Given the description of an element on the screen output the (x, y) to click on. 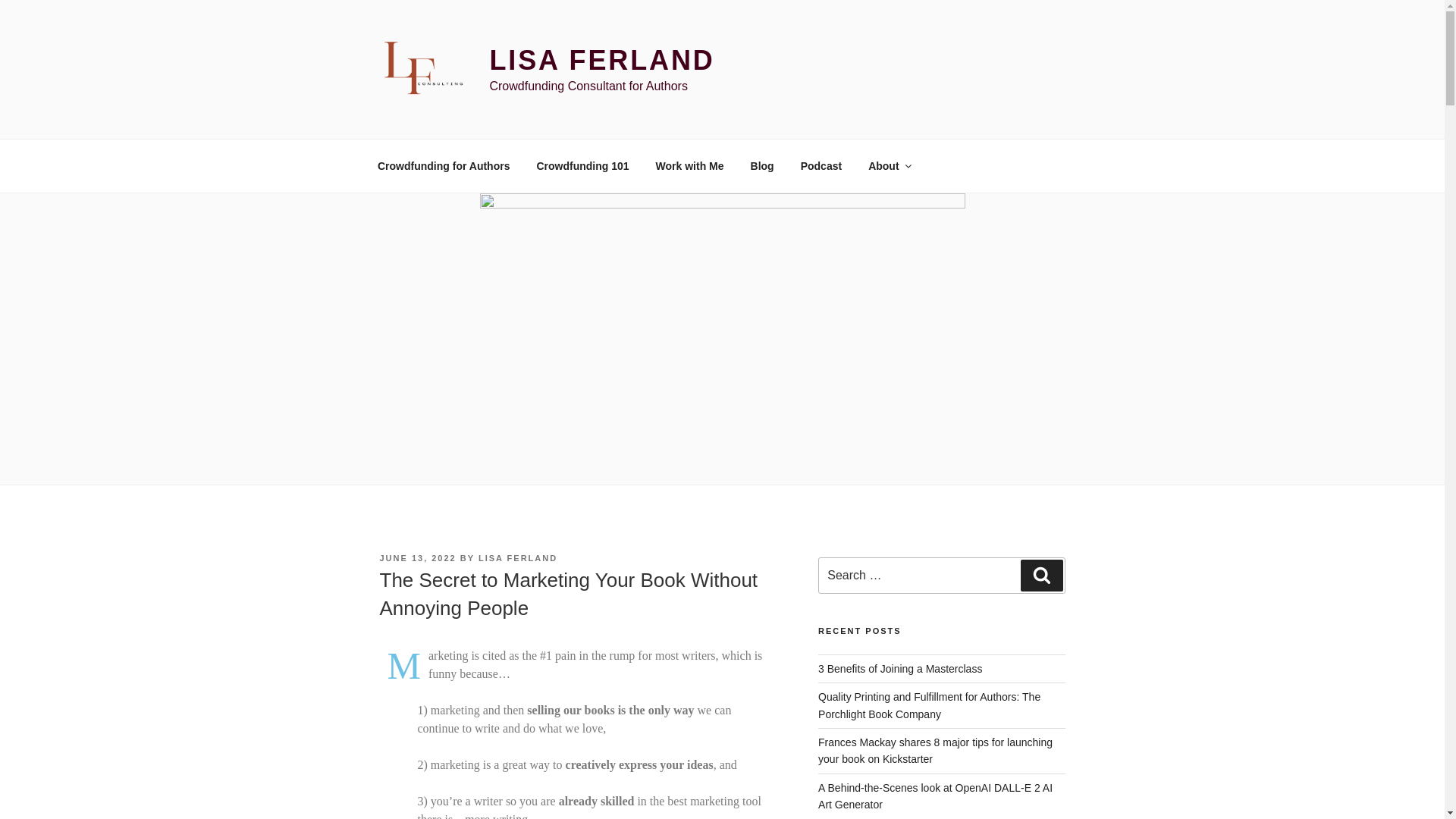
A Behind-the-Scenes look at OpenAI DALL-E 2 AI Art Generator (935, 796)
About (889, 165)
Podcast (820, 165)
LISA FERLAND (518, 557)
JUNE 13, 2022 (416, 557)
LISA FERLAND (601, 60)
3 Benefits of Joining a Masterclass (899, 668)
Blog (761, 165)
Crowdfunding for Authors (443, 165)
Crowdfunding 101 (582, 165)
Work with Me (689, 165)
